Given the description of an element on the screen output the (x, y) to click on. 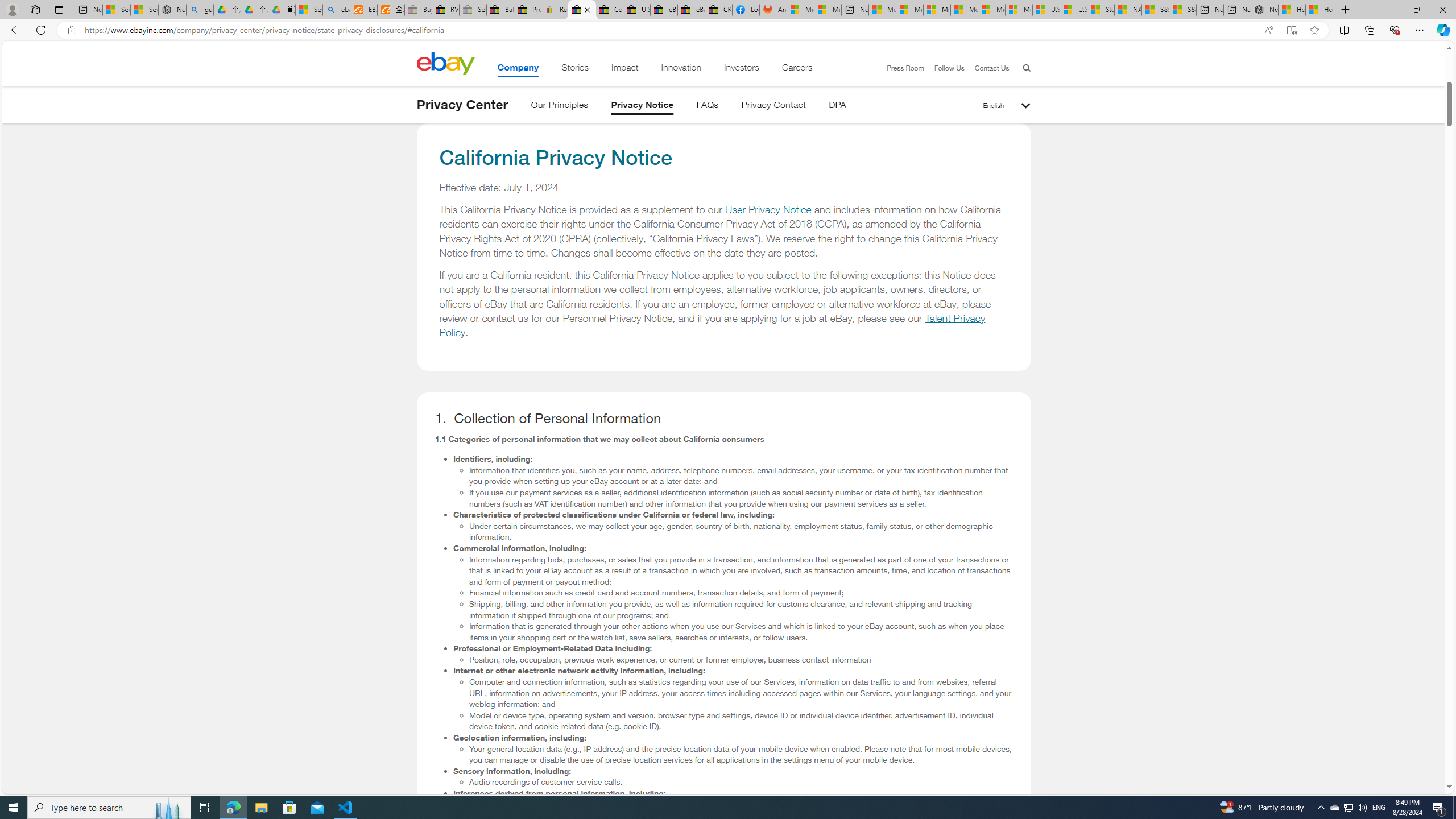
Audio recordings of customer service calls. (740, 781)
Buy Auto Parts & Accessories | eBay - Sleeping (418, 9)
Enter Immersive Reader (F9) (1291, 29)
guge yunpan - Search (200, 9)
Consumer Health Data Privacy Policy - eBay Inc. (609, 9)
